Given the description of an element on the screen output the (x, y) to click on. 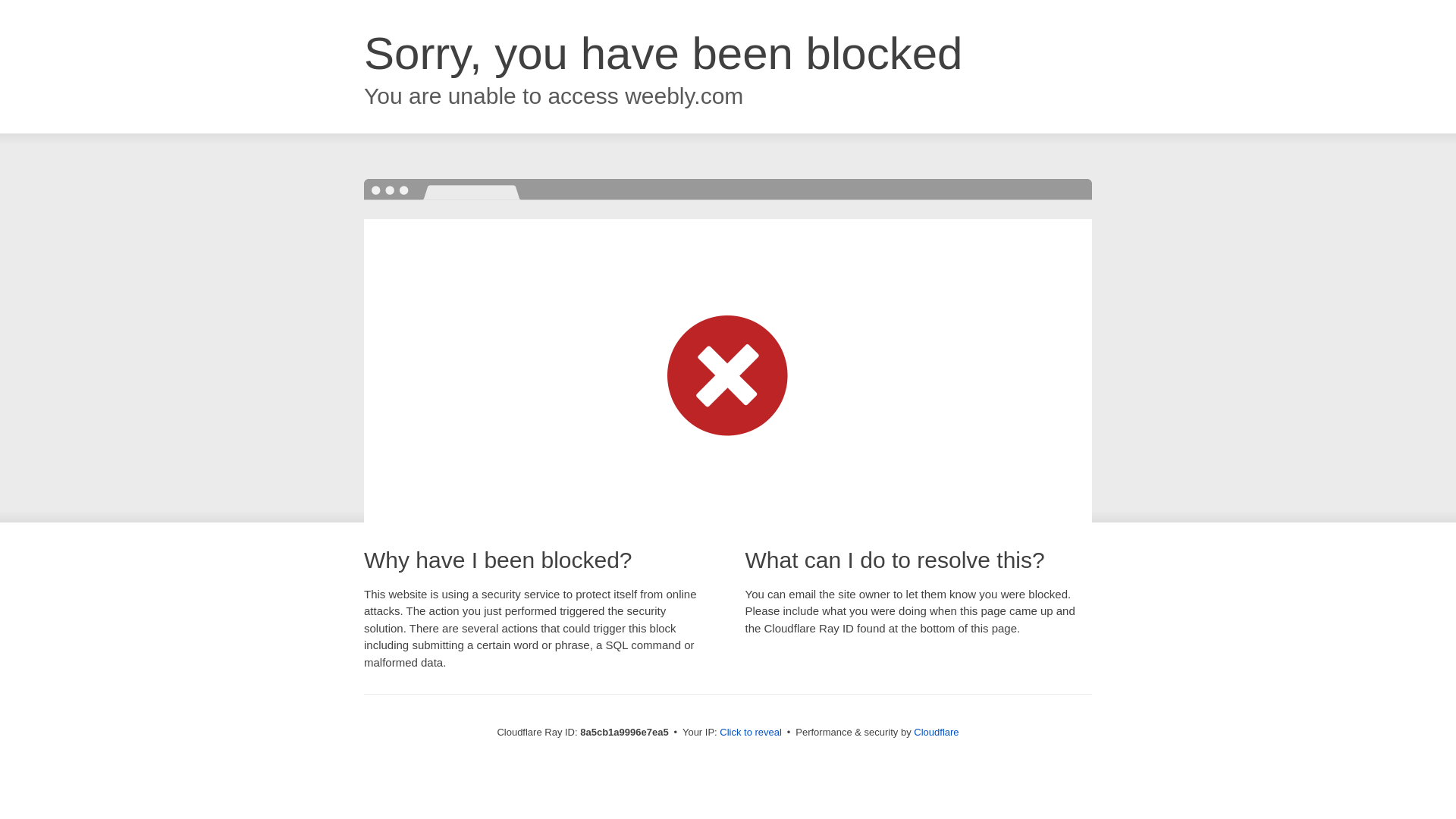
Click to reveal (750, 732)
Cloudflare (936, 731)
